Given the description of an element on the screen output the (x, y) to click on. 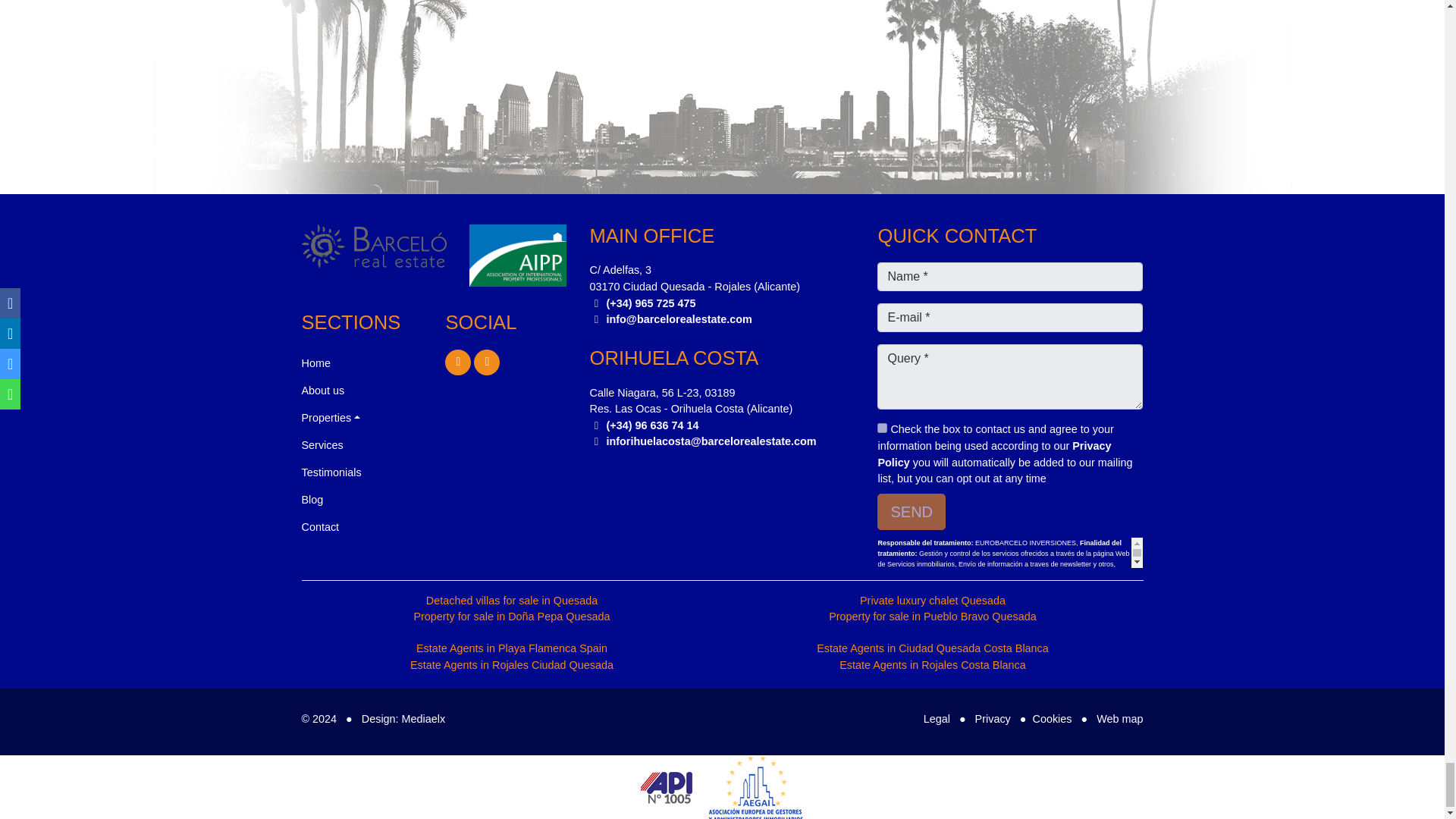
on (881, 428)
